Given the description of an element on the screen output the (x, y) to click on. 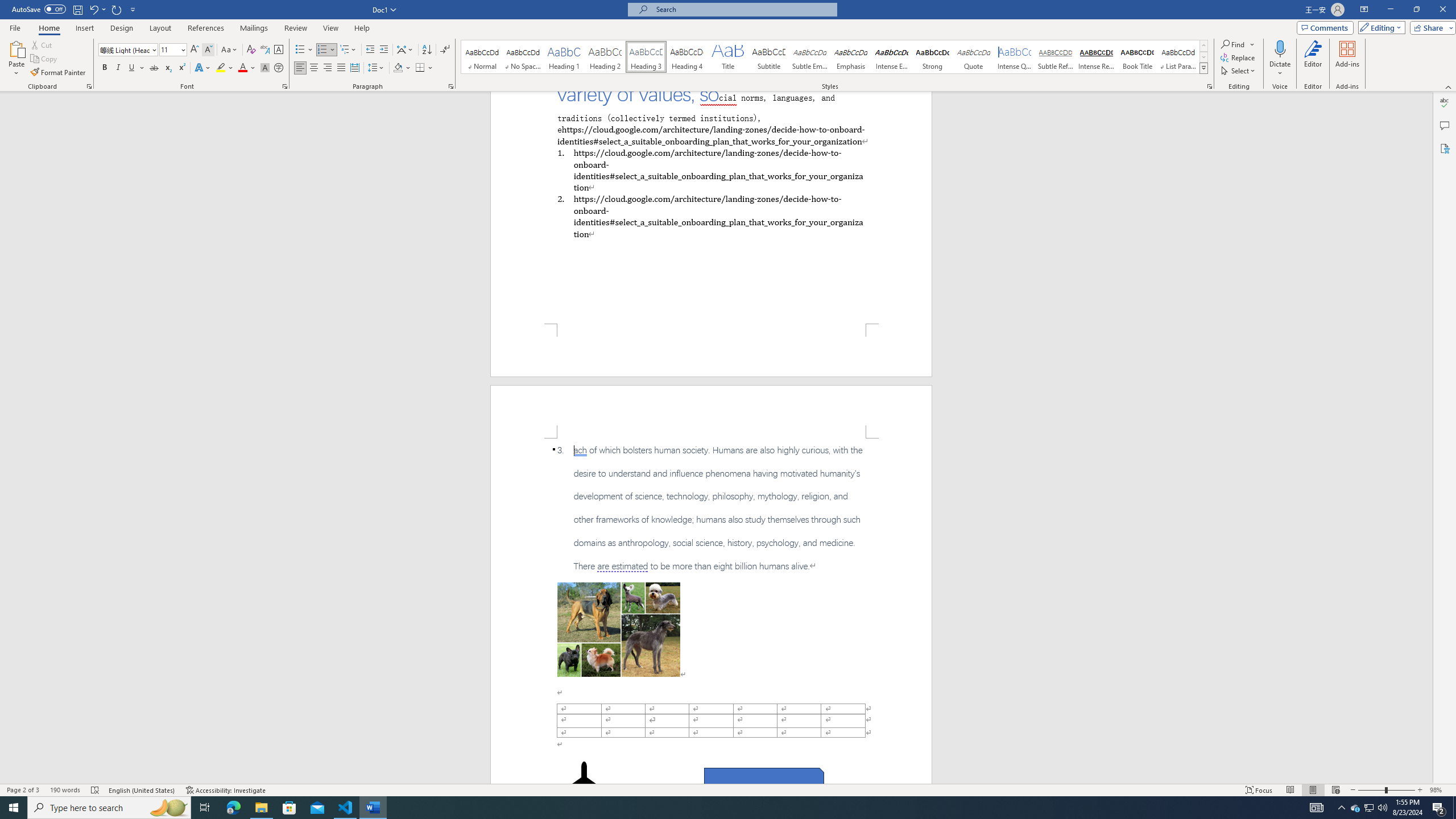
Subtle Reference (1055, 56)
Heading 3 (646, 56)
Justify (340, 67)
Character Shading (264, 67)
Repeat Shrink Font (117, 9)
Subscript (167, 67)
Distributed (354, 67)
Class: MsoCommandBar (728, 789)
Morphological variation in six dogs (618, 629)
Styles... (1209, 85)
Microsoft search (742, 9)
